Given the description of an element on the screen output the (x, y) to click on. 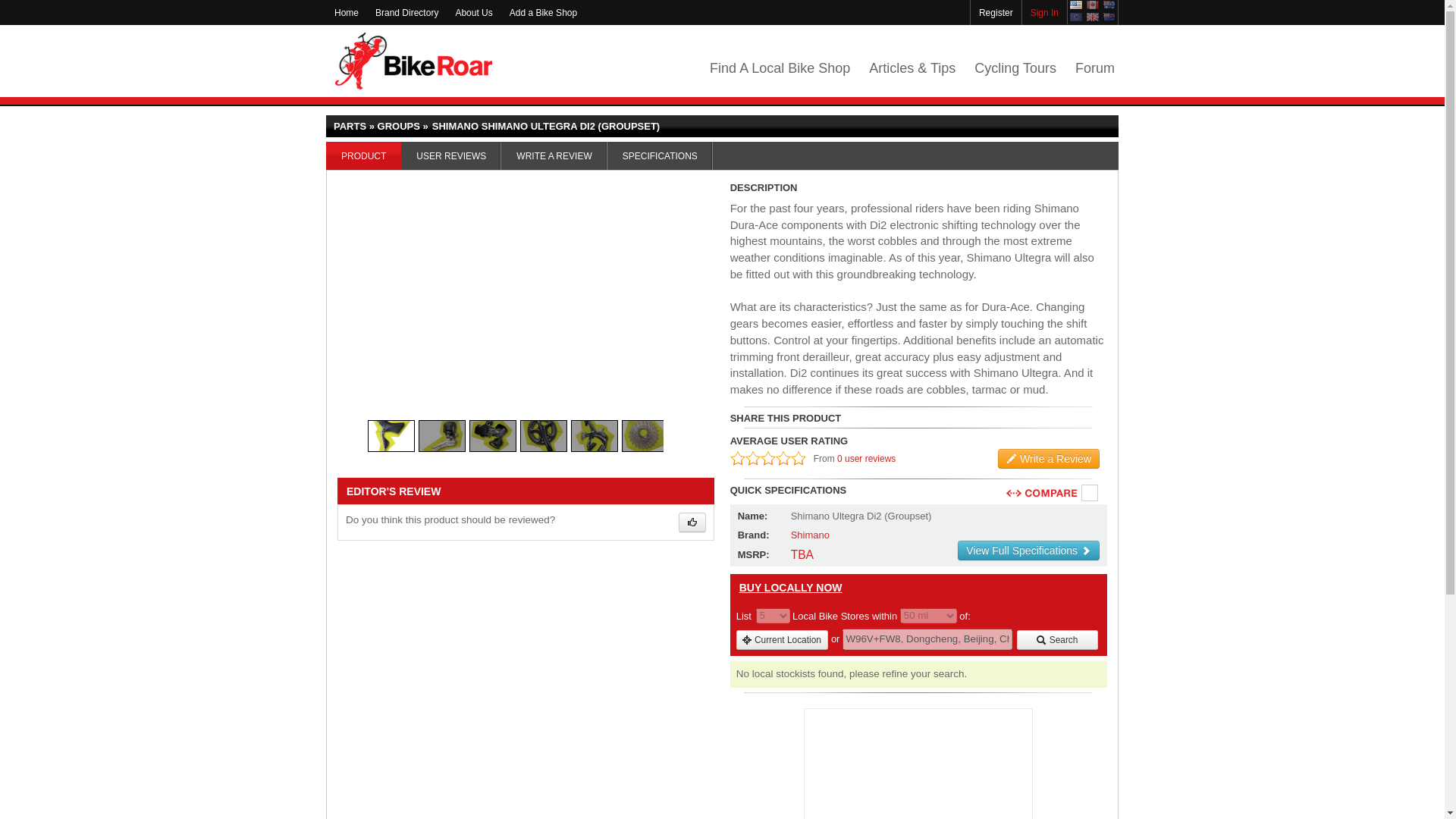
Brand Directory (406, 12)
Find A Local Bike Shop (780, 68)
Compare (1090, 493)
Forum (1095, 68)
View Full Specifications (1028, 550)
Home (346, 12)
About Us (473, 12)
0 user reviews (866, 458)
USER REVIEWS (450, 155)
Add a Bike Shop (542, 12)
Sign In (1044, 12)
Find your perfect cycling adventure... (1015, 68)
Cycling Tours (1015, 68)
Write a Review (1048, 458)
Read our articles, tips and expert advice... (912, 68)
